Given the description of an element on the screen output the (x, y) to click on. 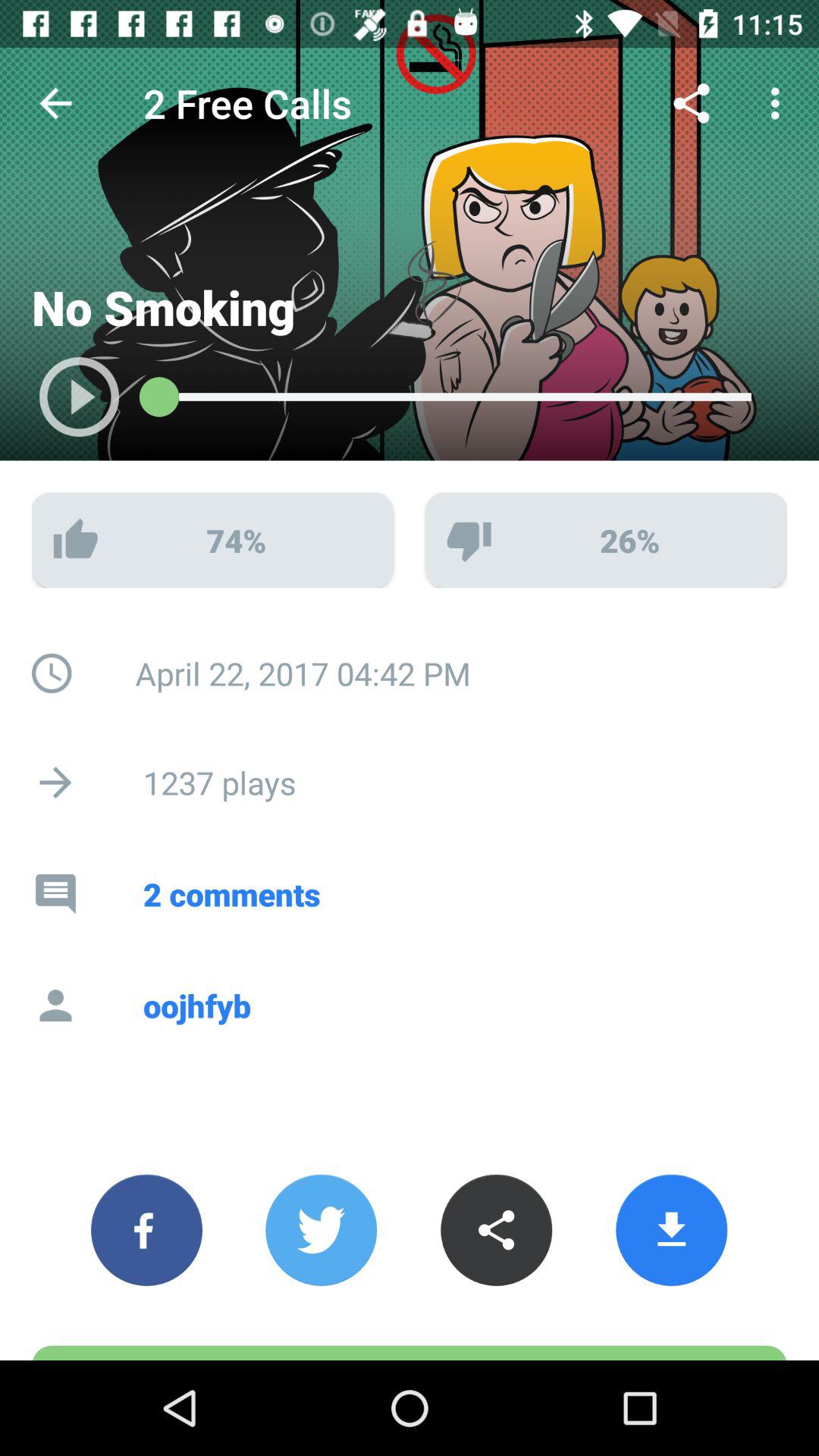
click on the button which is next to the share button (671, 1229)
select the share icon which is in bottom of the page (496, 1229)
click on the 3 vertical dots at the top right corner of the page (779, 103)
click on the like option (212, 540)
click on the facebook icon (146, 1229)
click on the 74 with thumbs up symbol (212, 540)
click on the customize and control icon (779, 103)
